Given the description of an element on the screen output the (x, y) to click on. 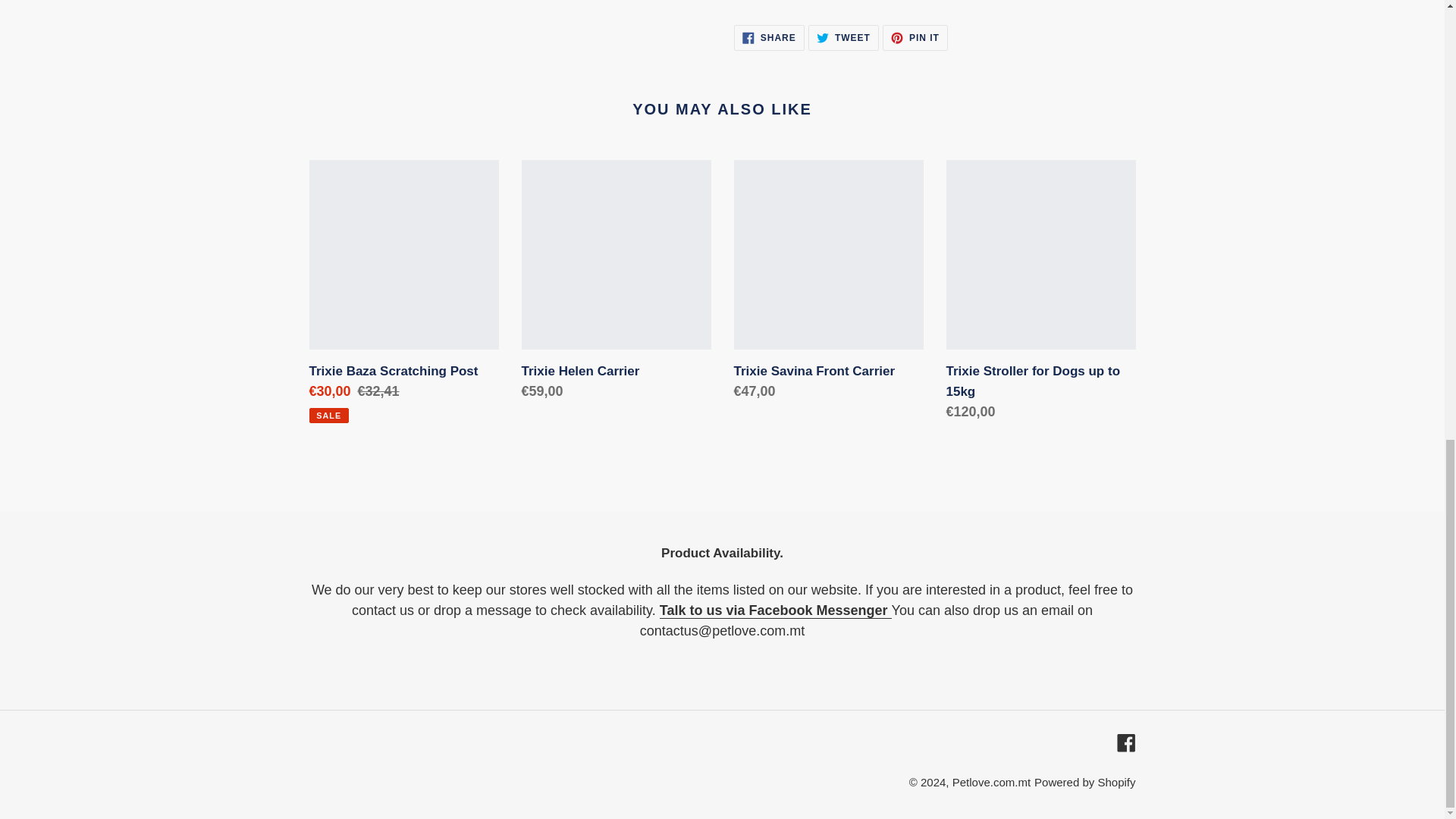
Talk to us via Facebook Messenger (843, 37)
Petlove.com.mt (775, 610)
Go to our Facebook Page (991, 781)
Powered by Shopify (775, 610)
Facebook (1084, 781)
